Given the description of an element on the screen output the (x, y) to click on. 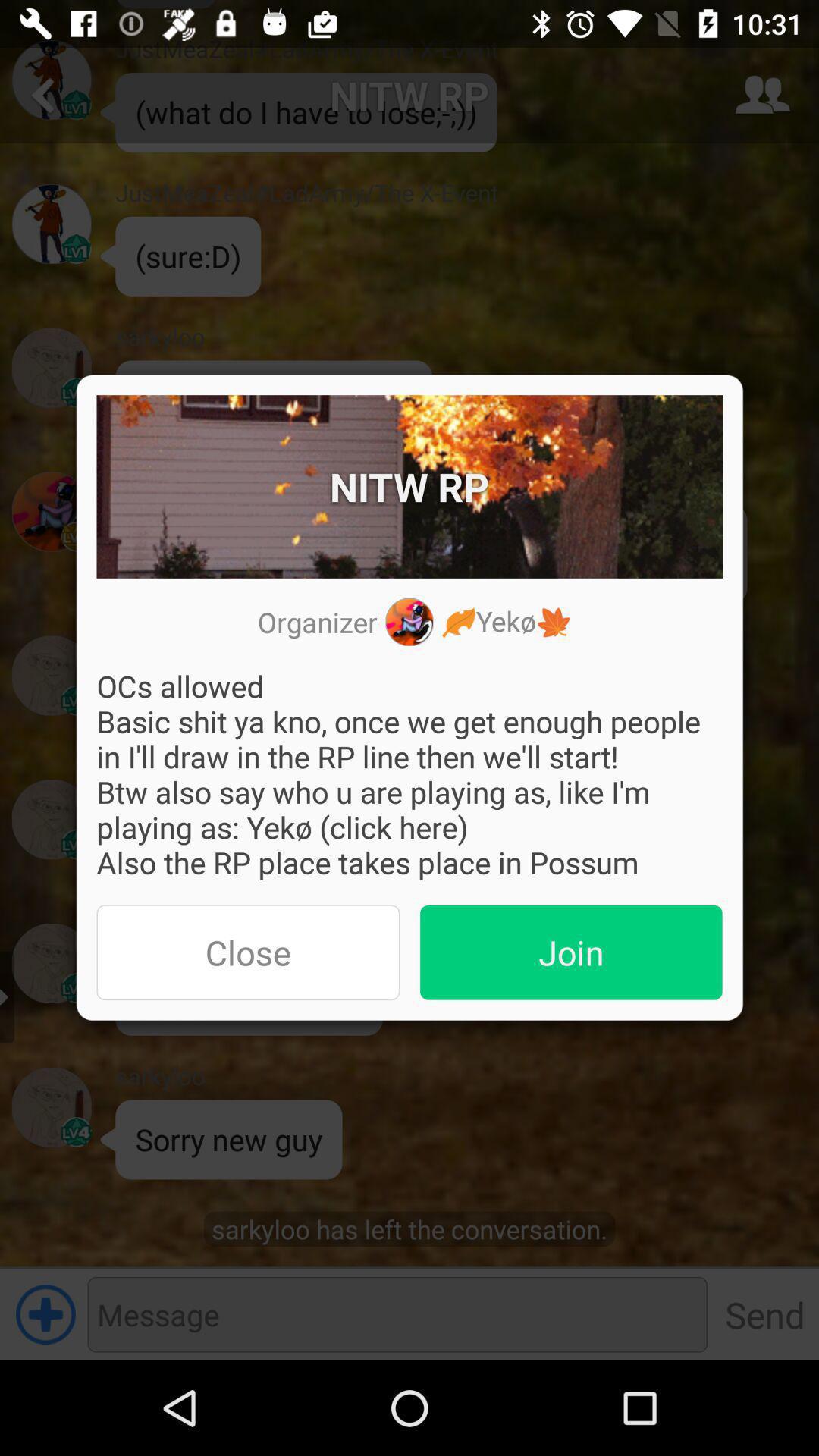
choose item on the left (247, 952)
